Given the description of an element on the screen output the (x, y) to click on. 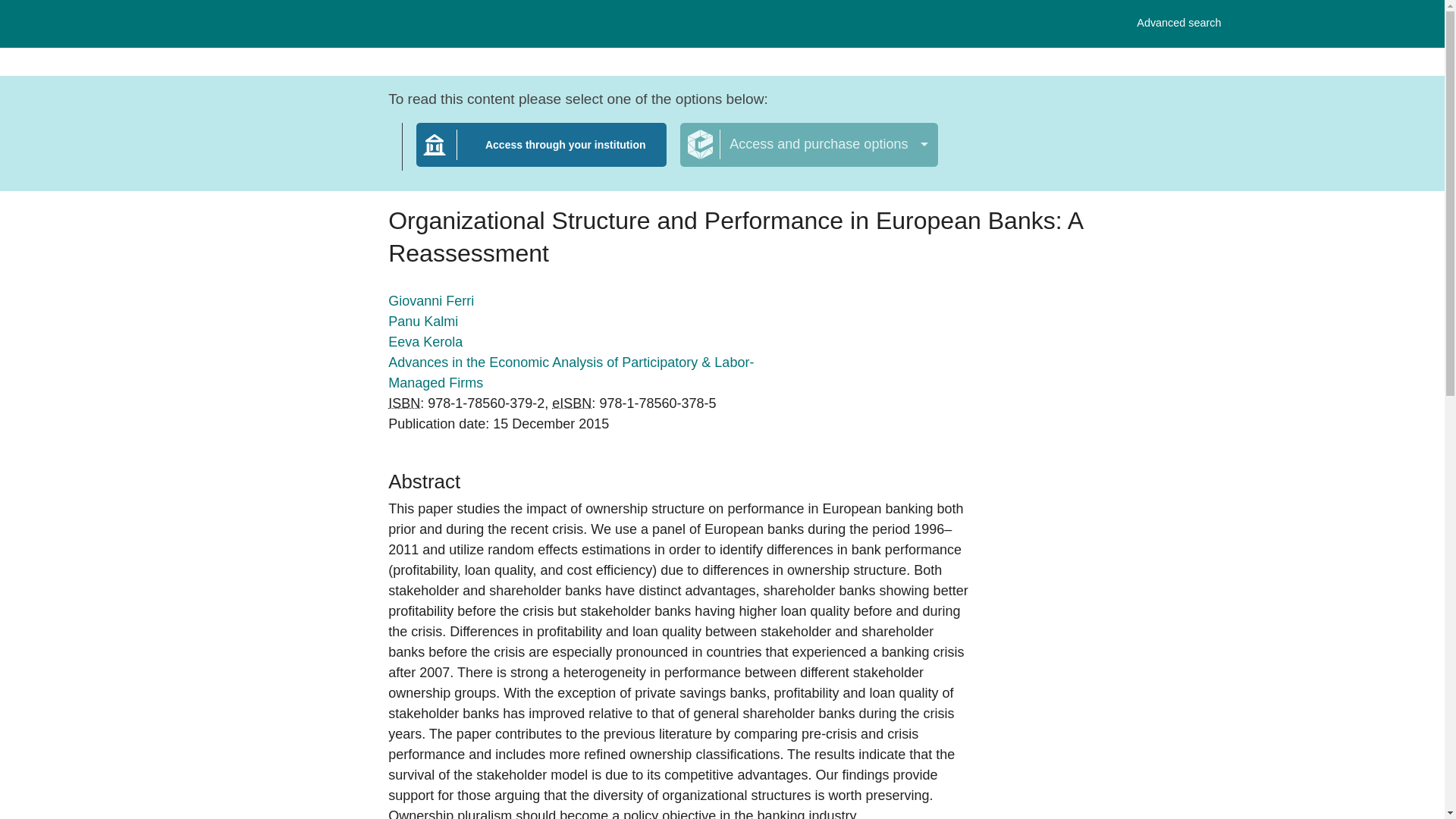
Access through your institution (1178, 23)
Eeva Kerola (541, 153)
International Standard Book Number. (425, 341)
Panu Kalmi (404, 403)
Giovanni Ferri (423, 321)
Access and purchase options (431, 300)
